Given the description of an element on the screen output the (x, y) to click on. 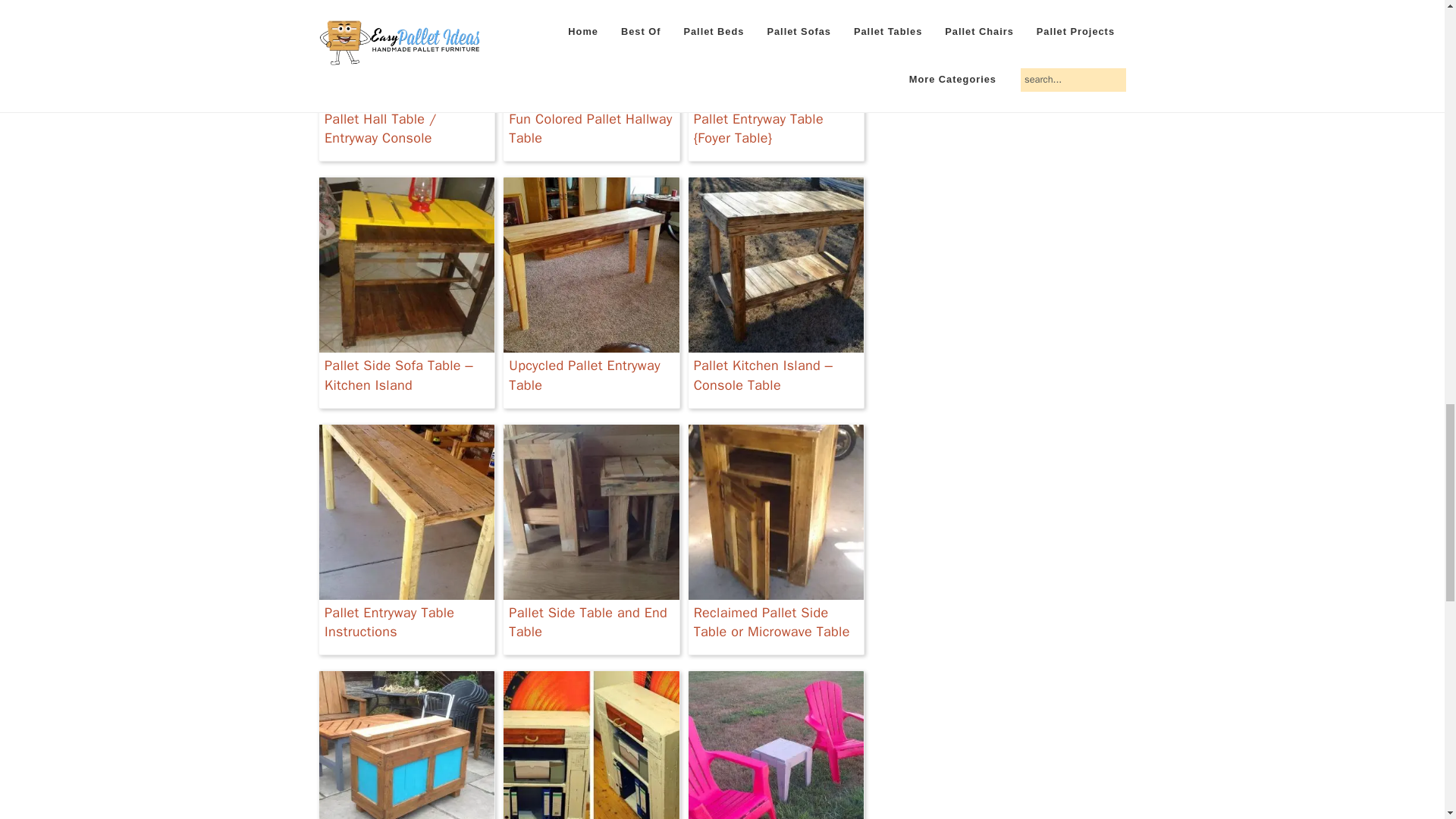
Fun Colored Pallet Hallway Table (590, 80)
Pallet TV Stand or Console Table, Storage (406, 744)
Mini Pallet Side Table (775, 744)
